Given the description of an element on the screen output the (x, y) to click on. 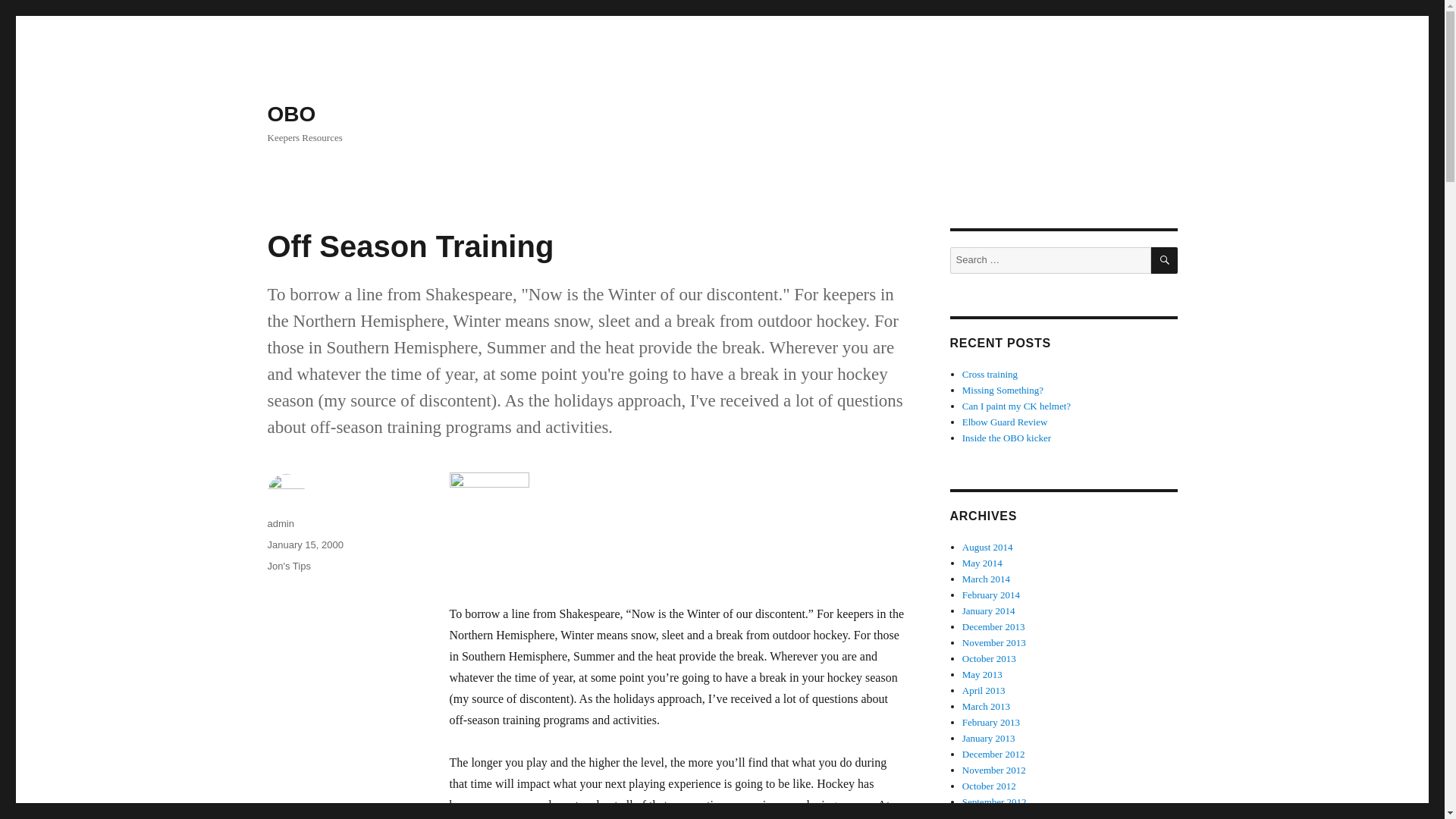
February 2014 (991, 594)
Cross training (989, 374)
August 2014 (987, 546)
March 2013 (986, 706)
November 2012 (994, 769)
Can I paint my CK helmet? (1016, 405)
Jon's Tips (288, 565)
January 15, 2000 (304, 544)
August 2012 (987, 815)
November 2013 (994, 642)
